Given the description of an element on the screen output the (x, y) to click on. 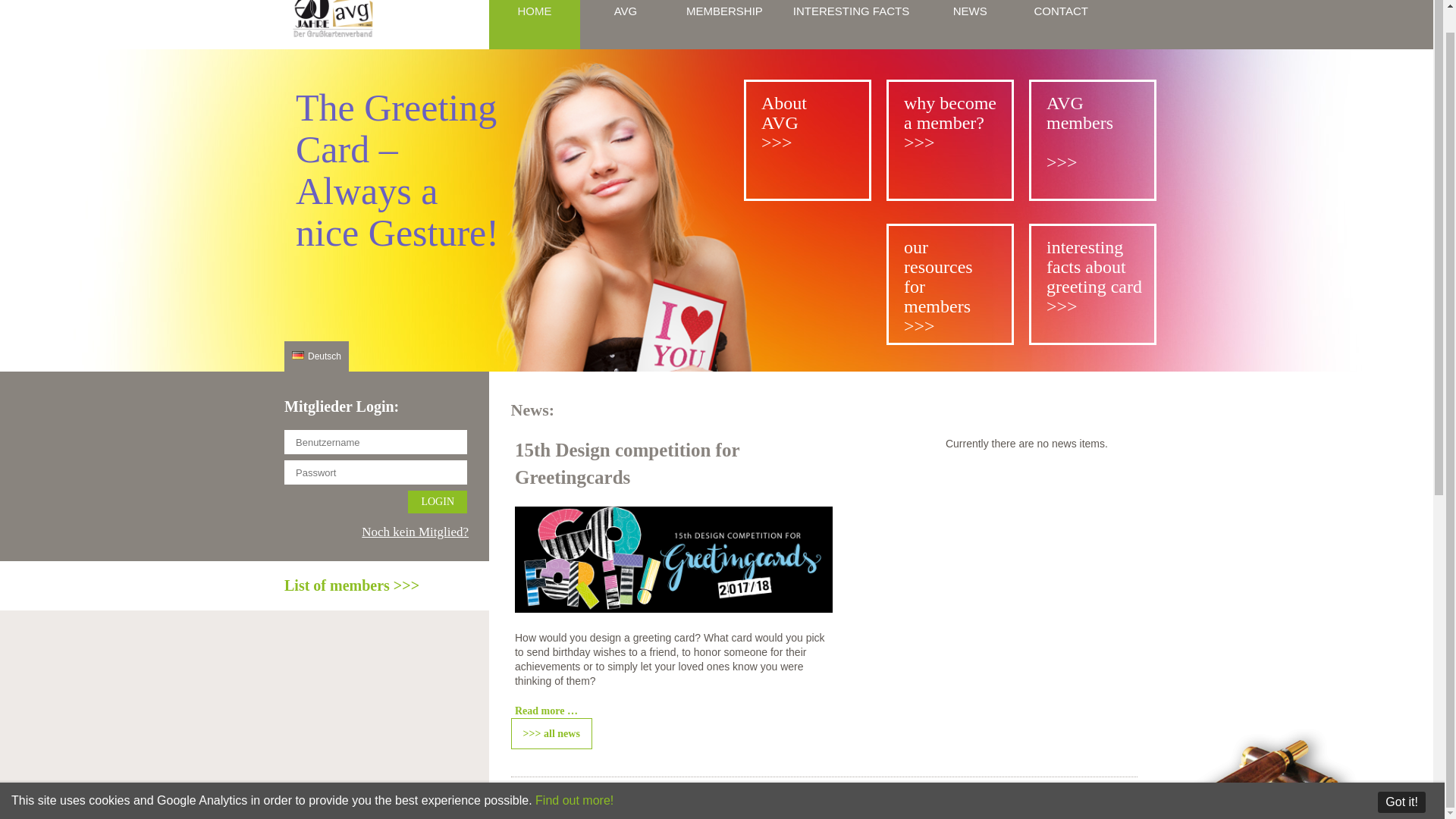
AVG (625, 24)
Login (437, 501)
NEWS (969, 24)
MEMBERSHIP (724, 24)
INTERESTING FACTS (850, 24)
HOME (534, 24)
